Given the description of an element on the screen output the (x, y) to click on. 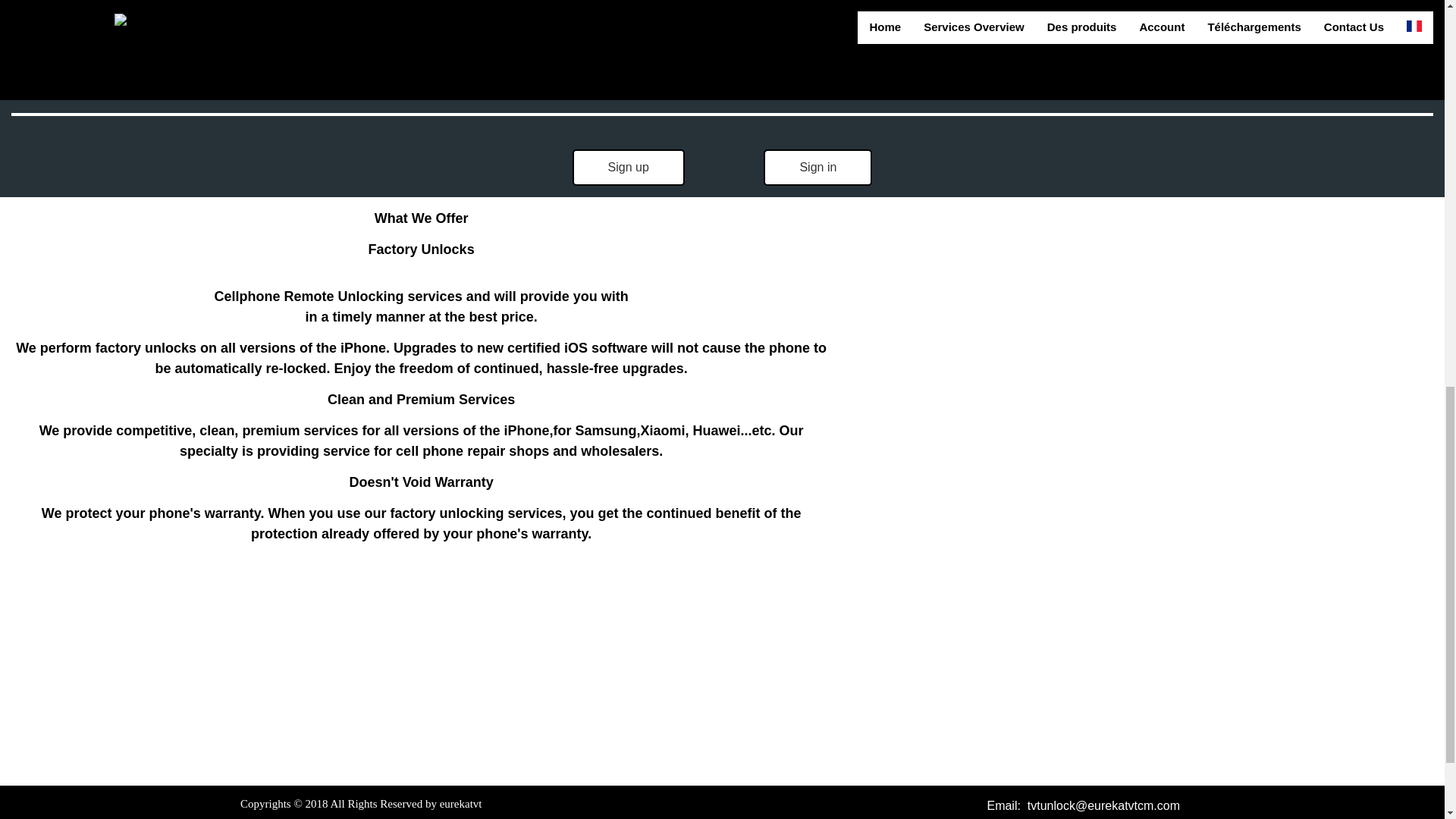
Sign up (628, 167)
Sign in (817, 167)
Chat us via Whatsapp (1082, 818)
